Given the description of an element on the screen output the (x, y) to click on. 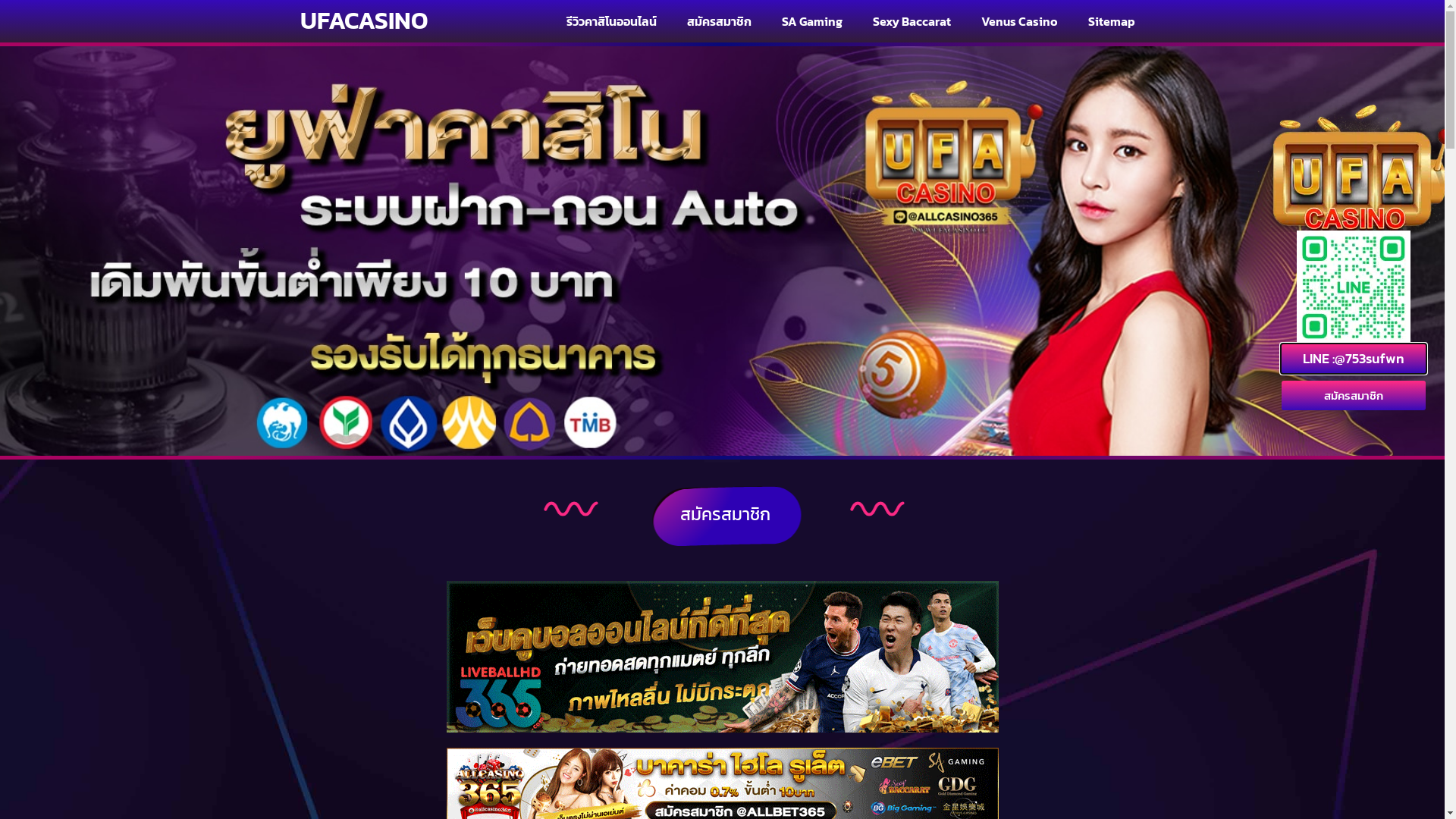
Sexy Baccarat Element type: text (911, 20)
Venus Casino Element type: text (1019, 20)
SA Gaming Element type: text (811, 20)
UFACASINO Element type: text (364, 20)
Sitemap Element type: text (1111, 20)
LINE :@753sufwn Element type: text (1353, 358)
